Given the description of an element on the screen output the (x, y) to click on. 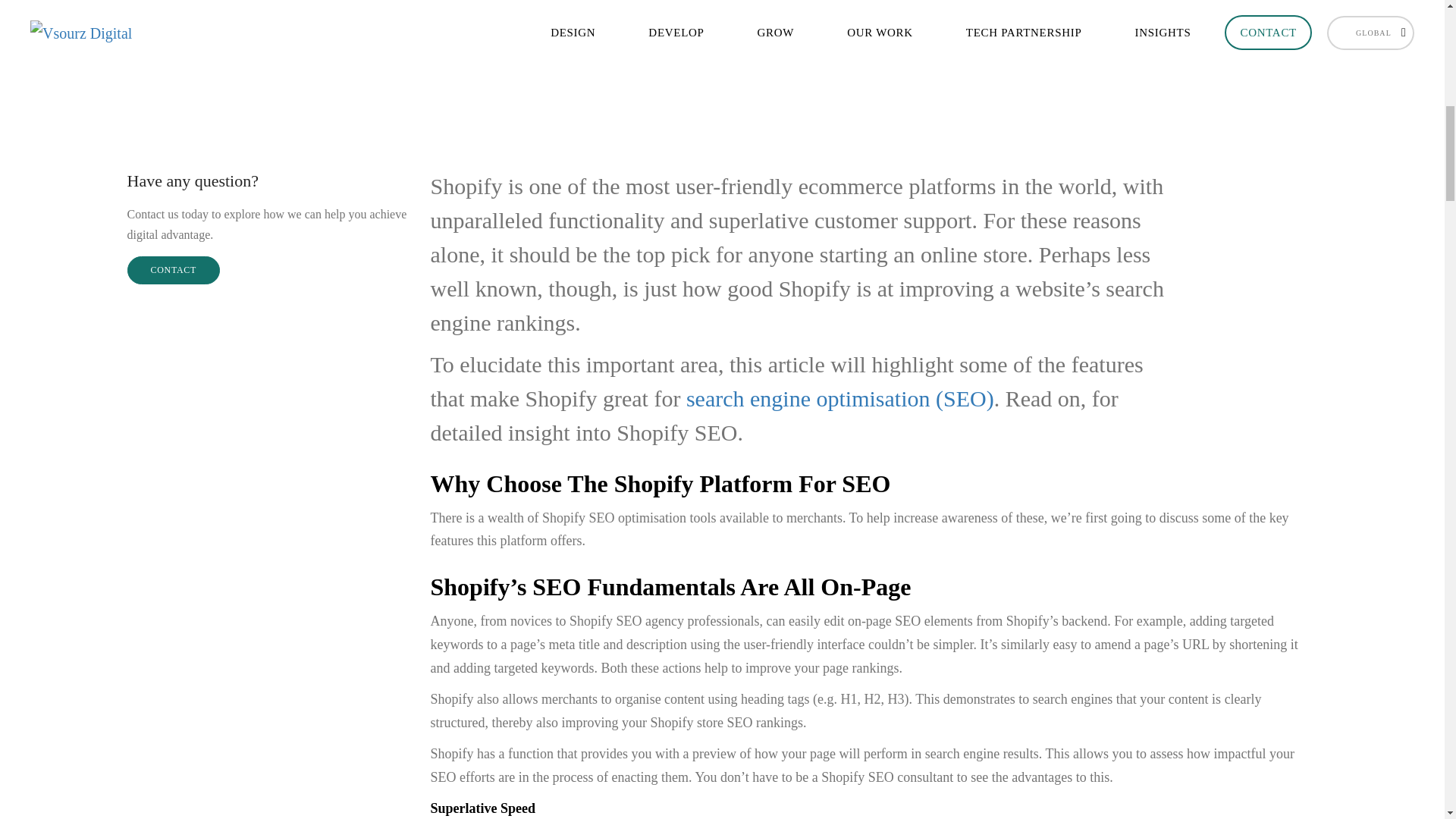
Contact (174, 270)
